Given the description of an element on the screen output the (x, y) to click on. 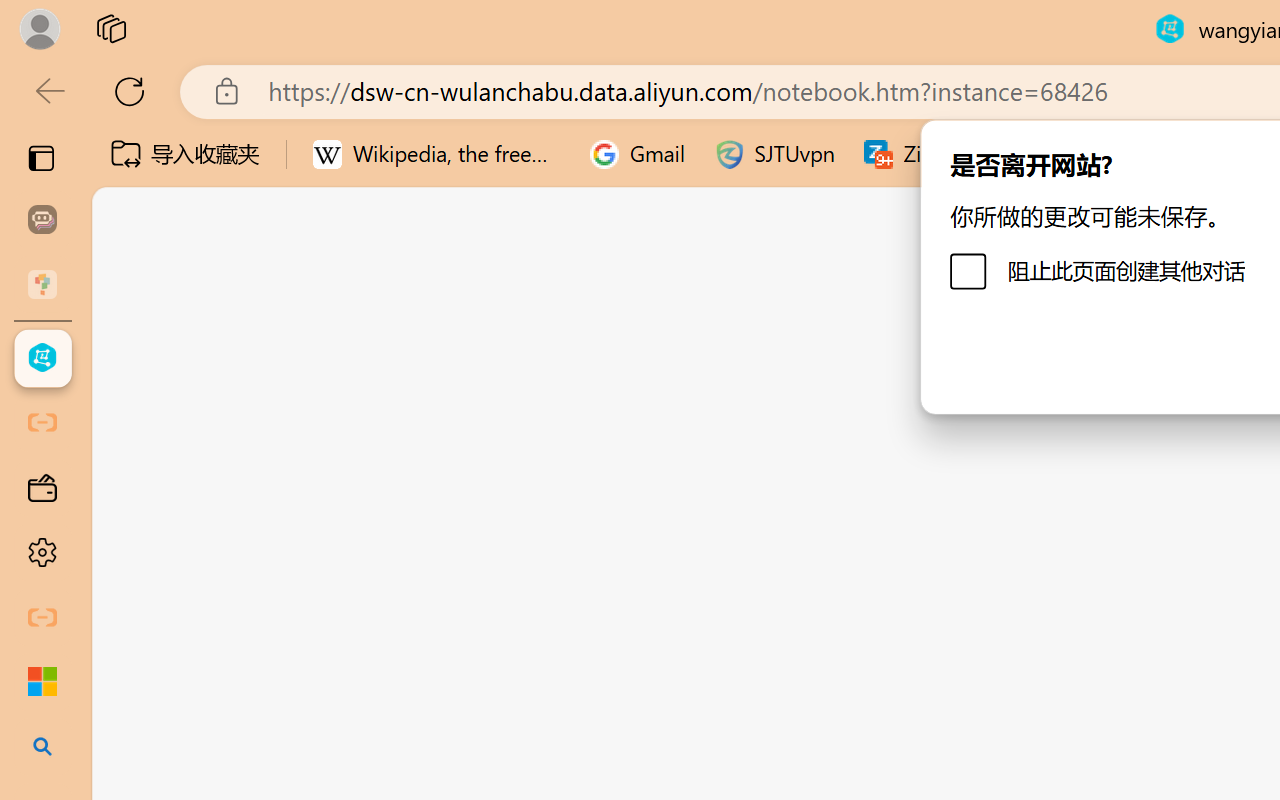
Run and Debug (Ctrl+Shift+D) (135, 692)
Explorer (Ctrl+Shift+E) (135, 432)
Class: actions-container (748, 489)
Stop Forwarding Port (Delete) (766, 489)
Add Port (645, 654)
Explorer actions (390, 358)
Microsoft security help and learning (42, 681)
Output (Ctrl+Shift+U) (696, 358)
Class: menubar compact overflow-menu-only (135, 358)
